Given the description of an element on the screen output the (x, y) to click on. 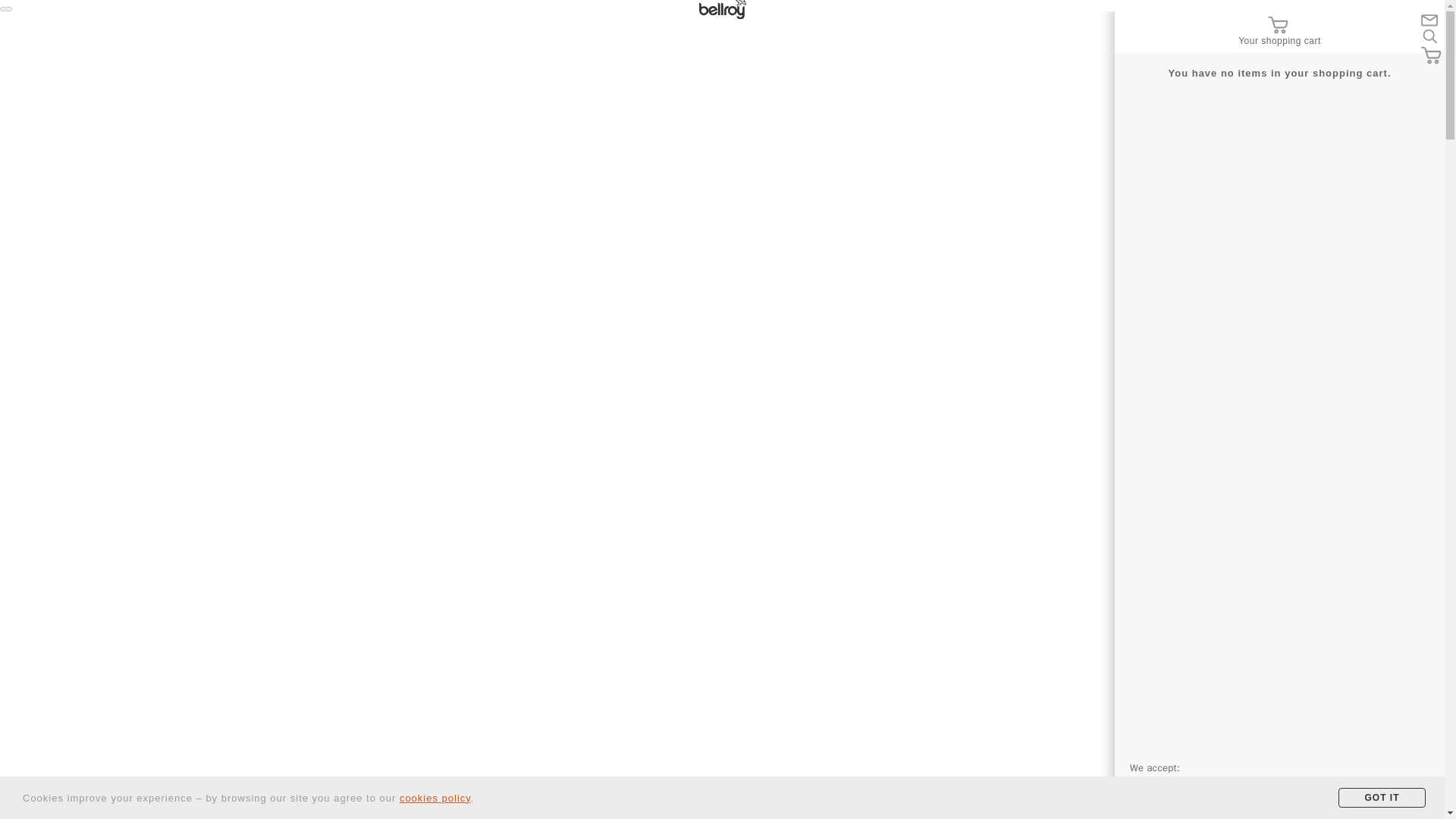
cookies policy (434, 797)
GOT IT (1381, 797)
